Given the description of an element on the screen output the (x, y) to click on. 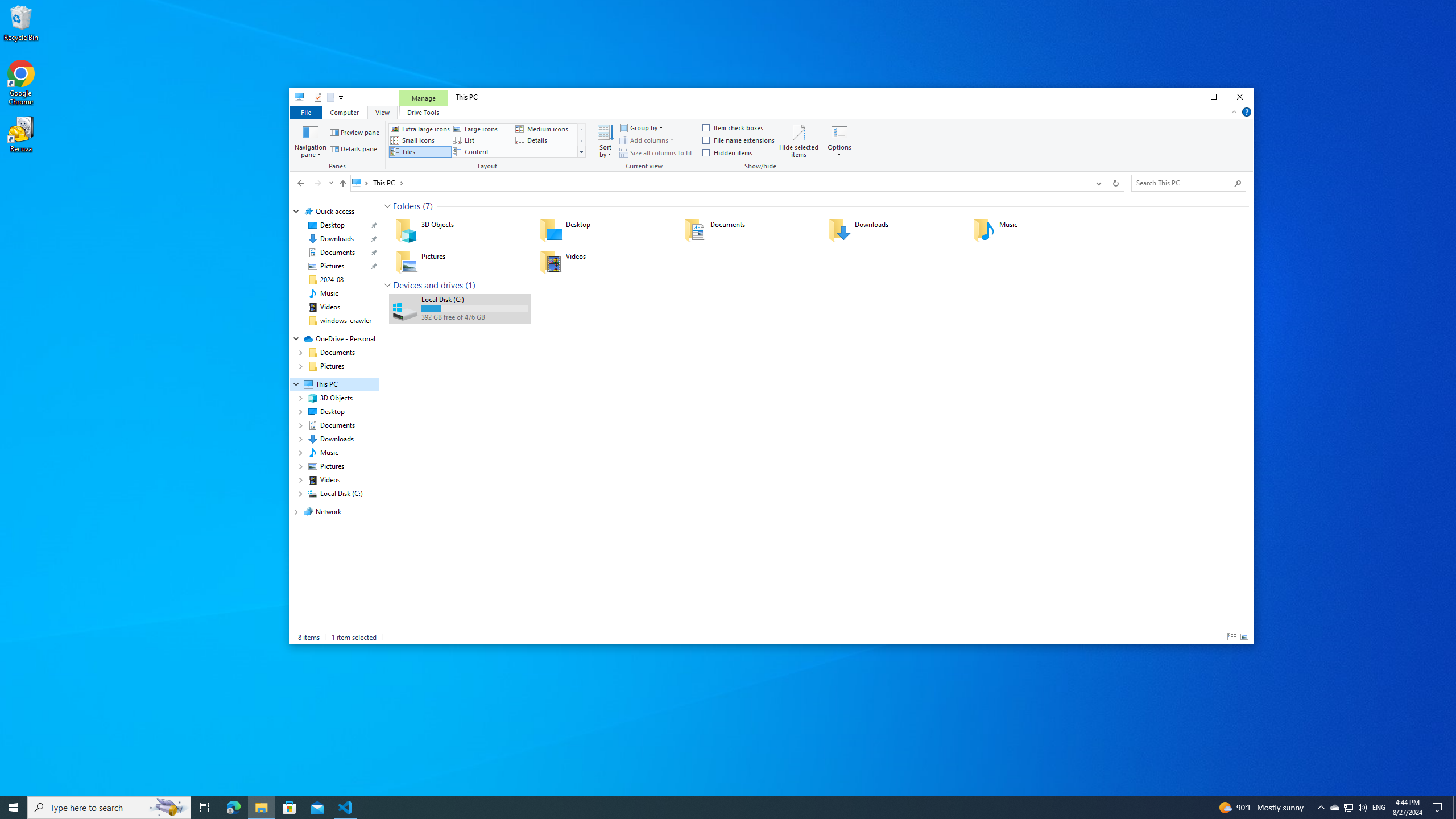
Name (474, 299)
Quick Access Toolbar (323, 96)
Space used (474, 308)
Back to Local Disk (C:) (Alt + Left Arrow) (300, 182)
Count (470, 285)
Help (1246, 111)
Address: This PC (719, 182)
Forward (Alt + Right Arrow) (317, 182)
Sort by (605, 140)
Maximize (1214, 96)
Pictures (pinned) (331, 265)
Navigation buttons (314, 182)
Desktop (603, 229)
